Given the description of an element on the screen output the (x, y) to click on. 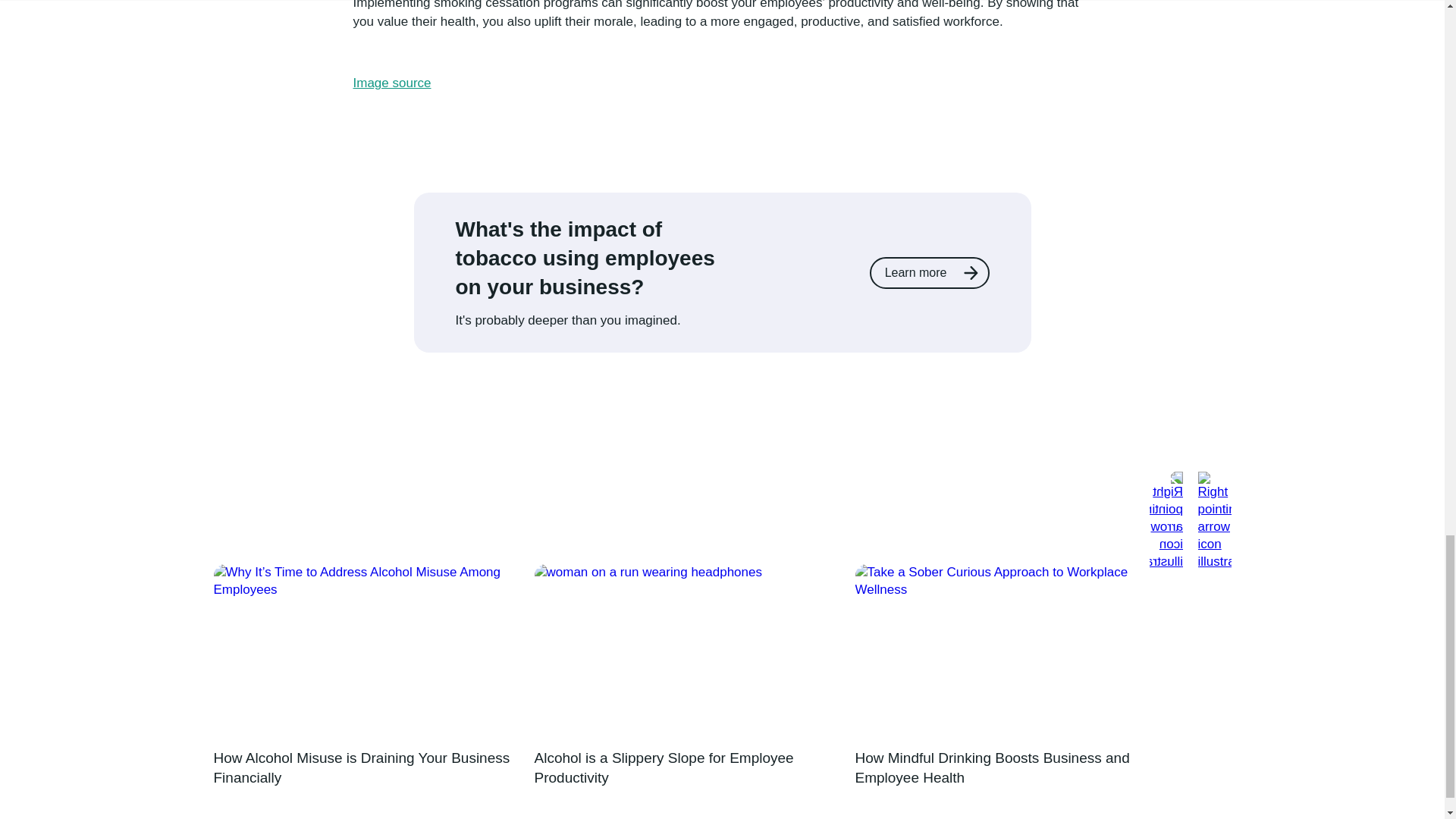
Image source (391, 83)
